Given the description of an element on the screen output the (x, y) to click on. 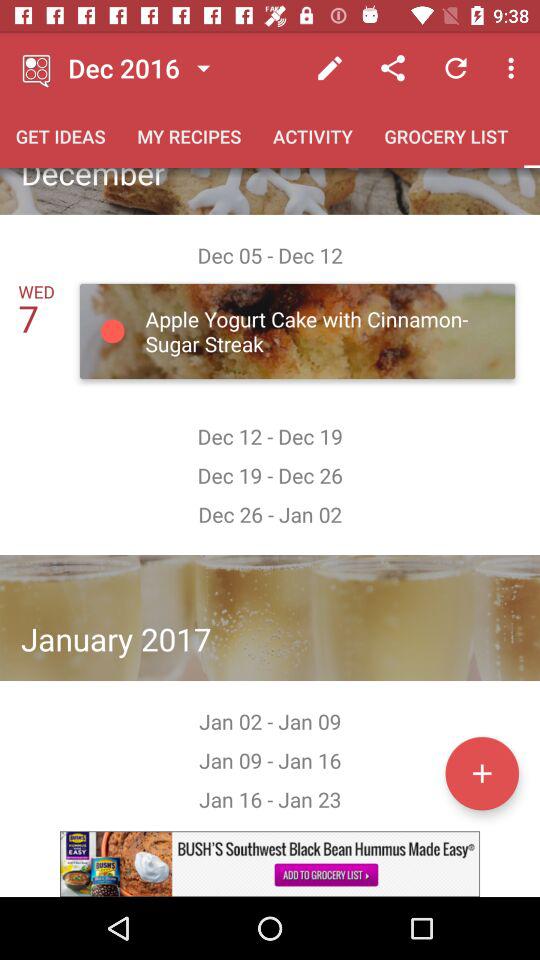
get more dates (482, 773)
